Given the description of an element on the screen output the (x, y) to click on. 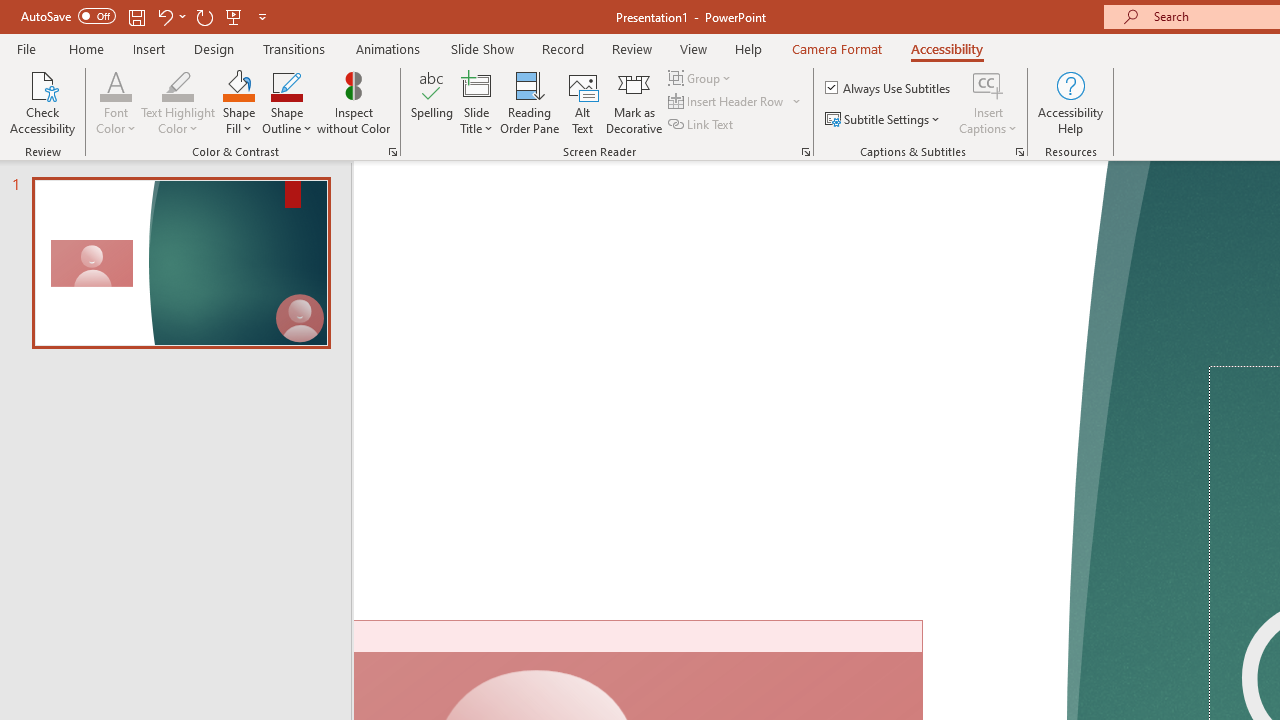
Inspect without Color (353, 102)
